Given the description of an element on the screen output the (x, y) to click on. 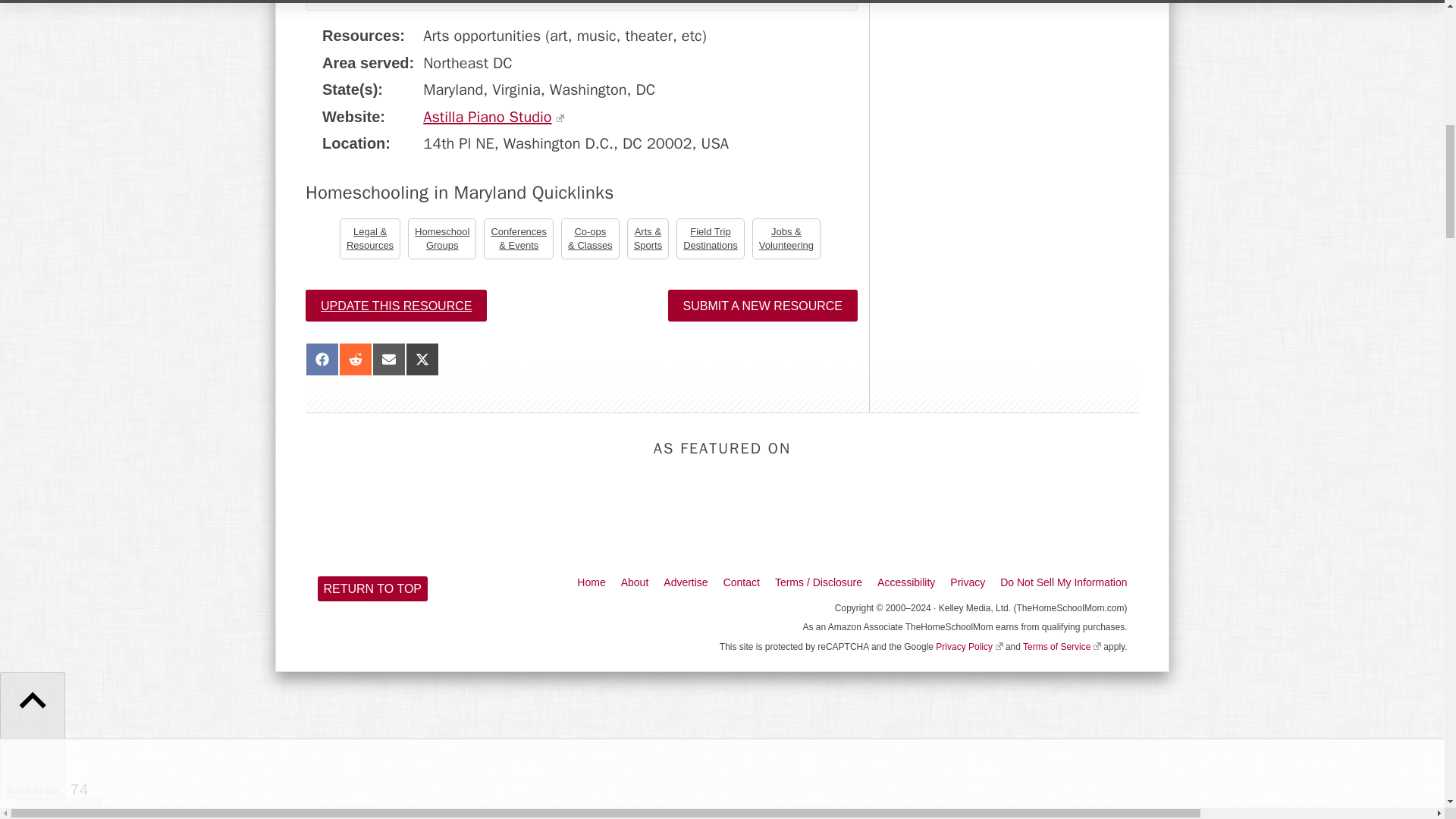
Astilla Piano Studio (493, 116)
